Given the description of an element on the screen output the (x, y) to click on. 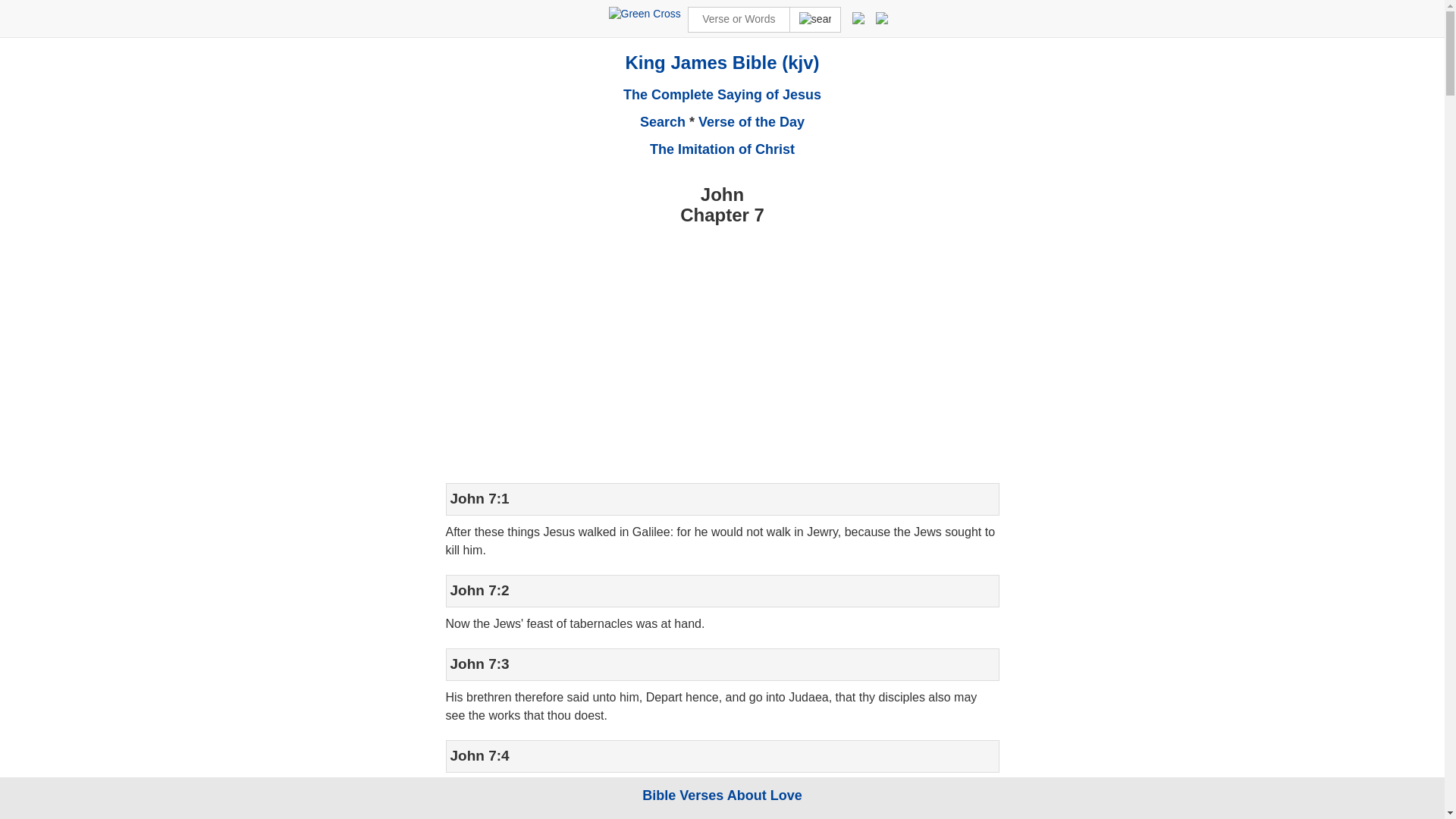
Verse of the Day (751, 121)
Search (662, 121)
The Imitation of Christ (721, 149)
The Complete Saying of Jesus (722, 94)
search (815, 19)
